Given the description of an element on the screen output the (x, y) to click on. 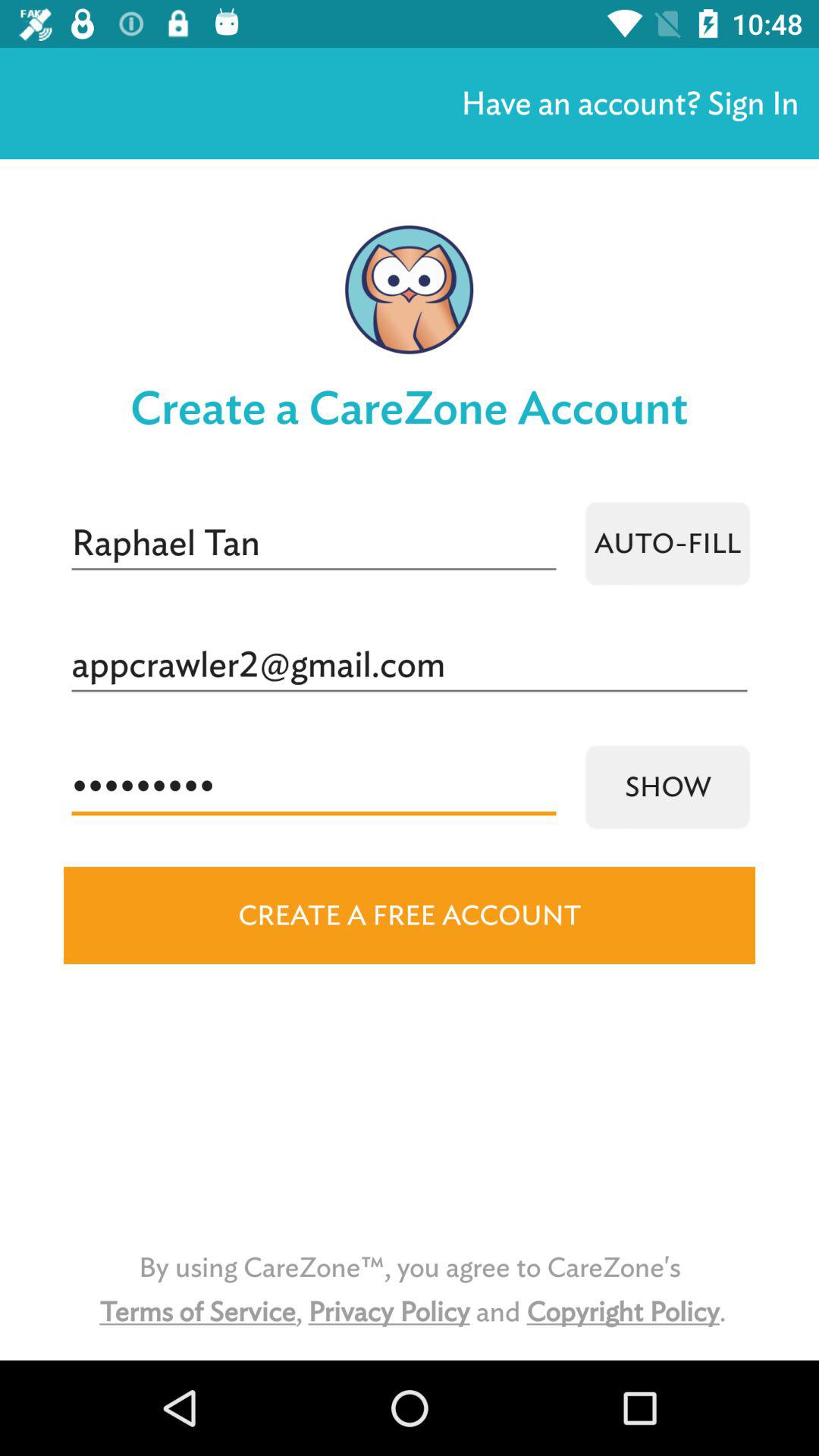
turn off icon to the right of the crowd3116 icon (667, 786)
